Given the description of an element on the screen output the (x, y) to click on. 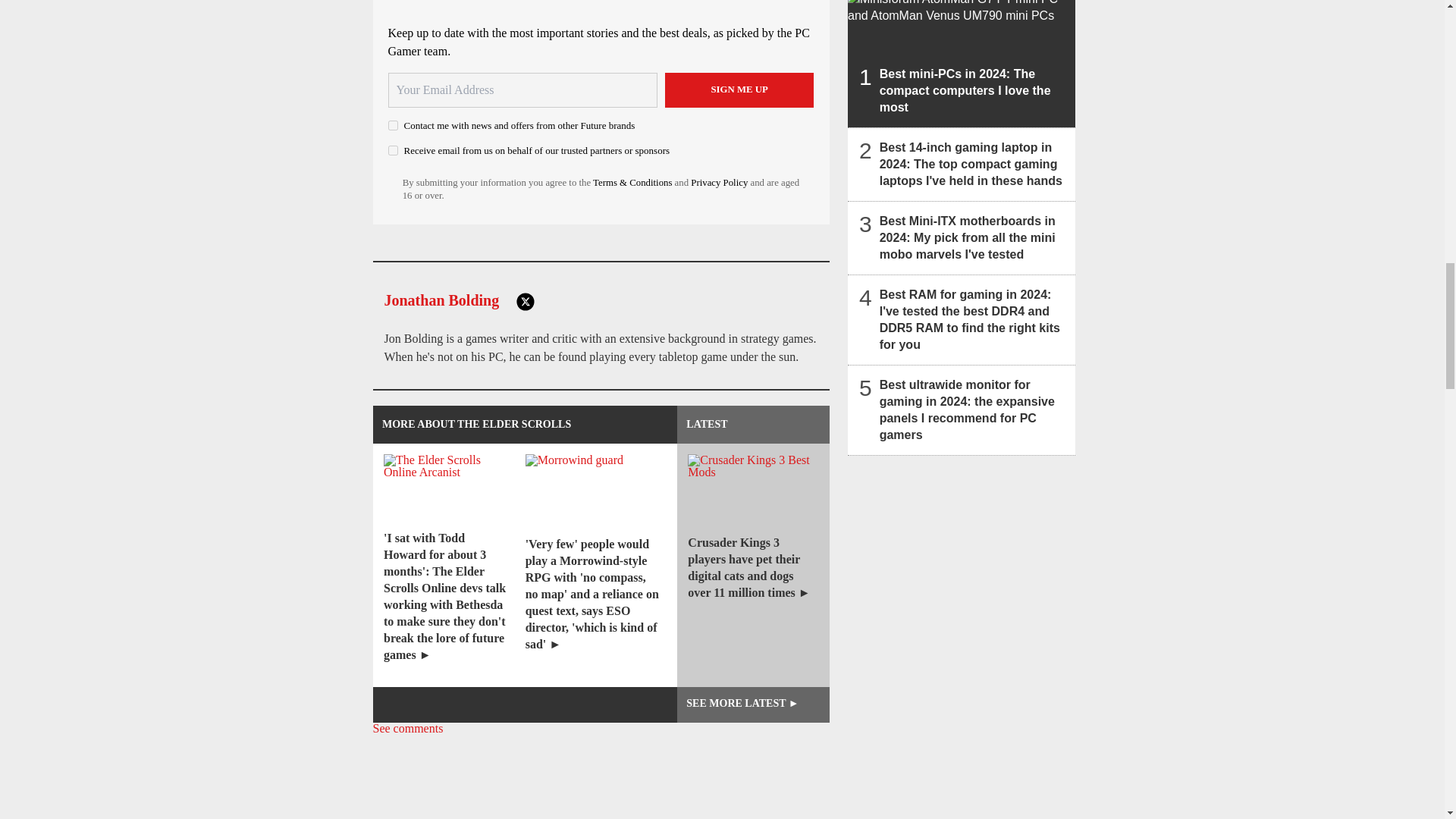
Sign me up (739, 89)
on (392, 150)
on (392, 125)
